Given the description of an element on the screen output the (x, y) to click on. 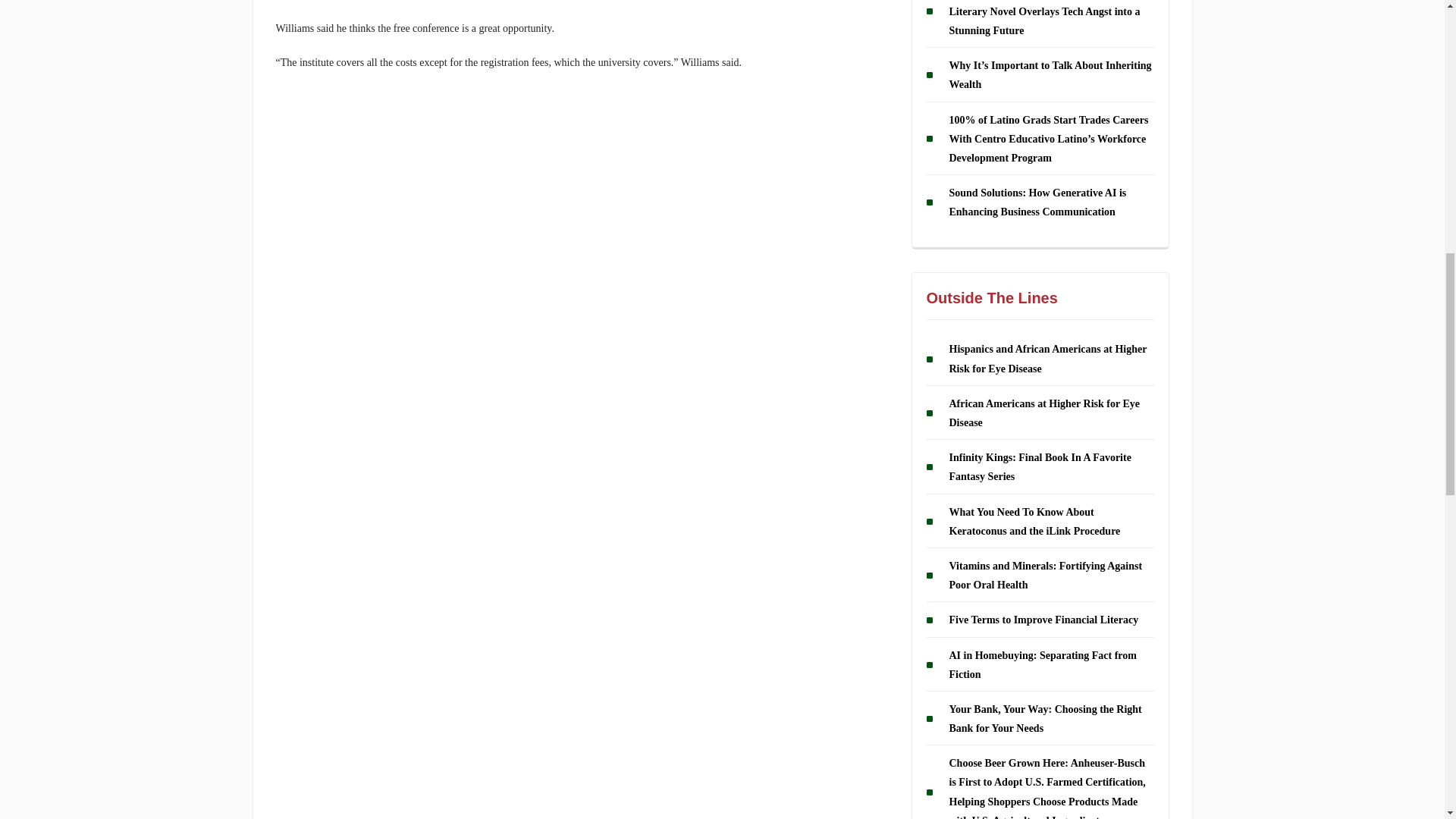
Infinity Kings: Final Book In A Favorite Fantasy Series (1040, 467)
African Americans at Higher Risk for Eye Disease (1044, 413)
African Americans at Higher Risk for Eye Disease (1044, 413)
Infinity Kings: Final Book In A Favorite Fantasy Series (1040, 467)
